Given the description of an element on the screen output the (x, y) to click on. 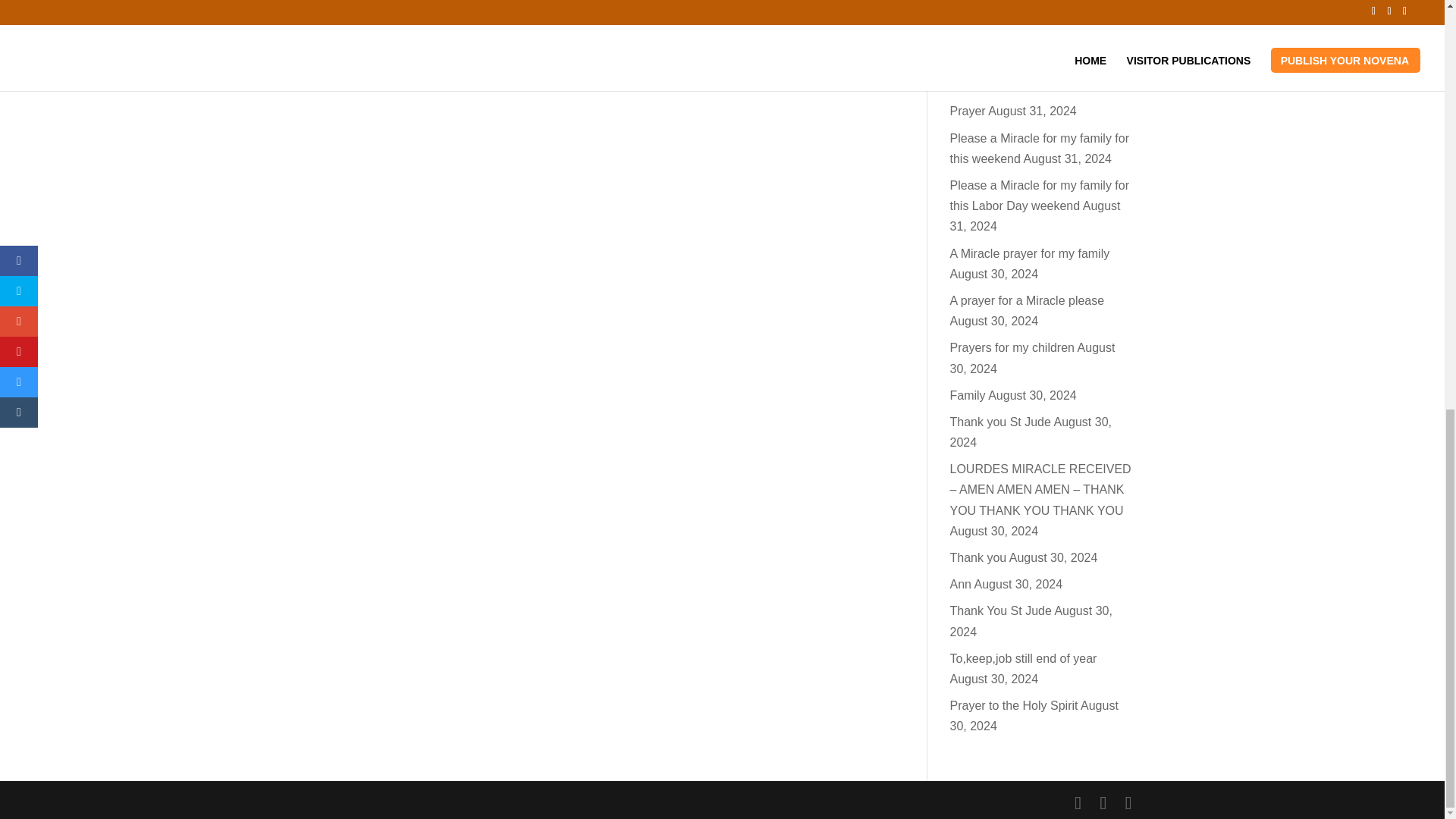
A prayer for a Miracle please (1026, 300)
Family (967, 395)
Please a Miracle for my family for this Labor Day weekend (1039, 195)
Prayers for my children (1011, 347)
Thank You St Jude (1000, 610)
Please a Miracle for my family for this weekend (1039, 148)
Thank you (977, 557)
Thank you St Jude (999, 421)
Prayer (967, 110)
Forgiveness of sins and a grateful heart. (1018, 27)
